Given the description of an element on the screen output the (x, y) to click on. 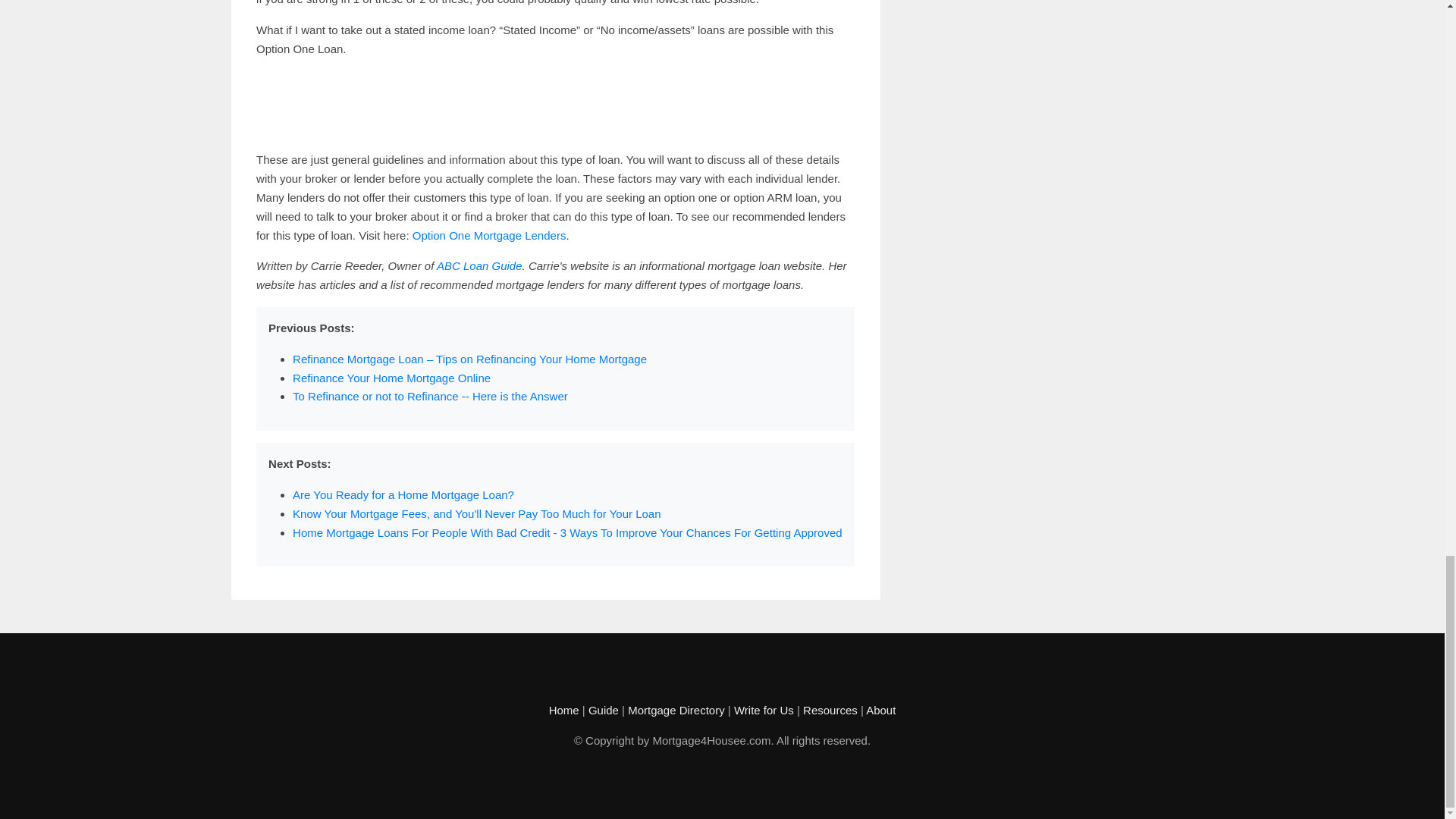
Are You Ready for a Home Mortgage Loan? (402, 494)
Option One Mortgage Lenders (489, 235)
Write for Us (763, 709)
About (880, 709)
ABC Loan Guide (479, 265)
Resources (830, 709)
To Refinance or not to Refinance -- Here is the Answer (429, 395)
Advertisement (555, 104)
Refinance Your Home Mortgage Online (391, 377)
